Given the description of an element on the screen output the (x, y) to click on. 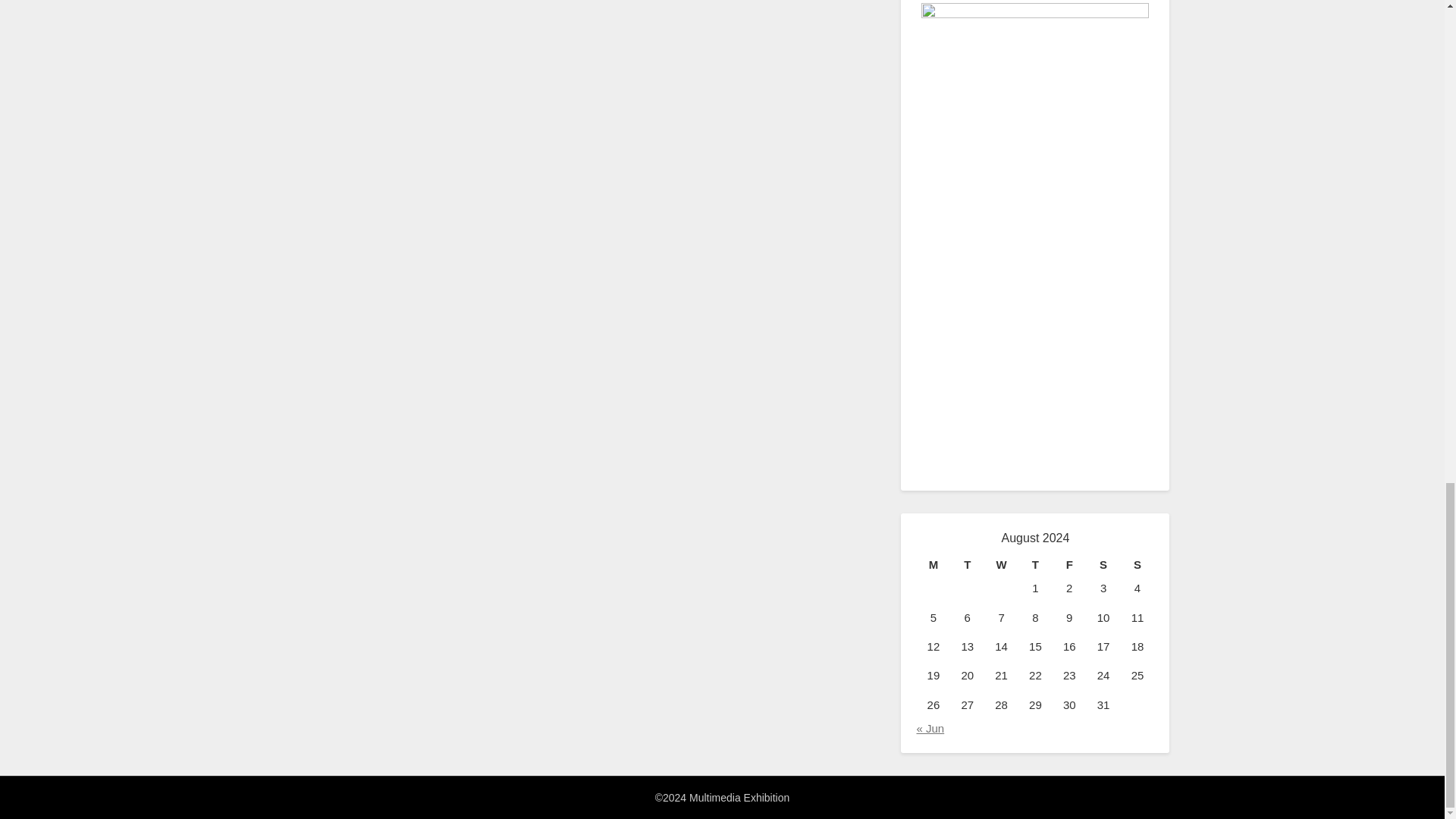
Tuesday (967, 565)
Monday (932, 565)
Thursday (1034, 565)
Saturday (1103, 565)
Sunday (1137, 565)
Wednesday (1000, 565)
Friday (1069, 565)
